Given the description of an element on the screen output the (x, y) to click on. 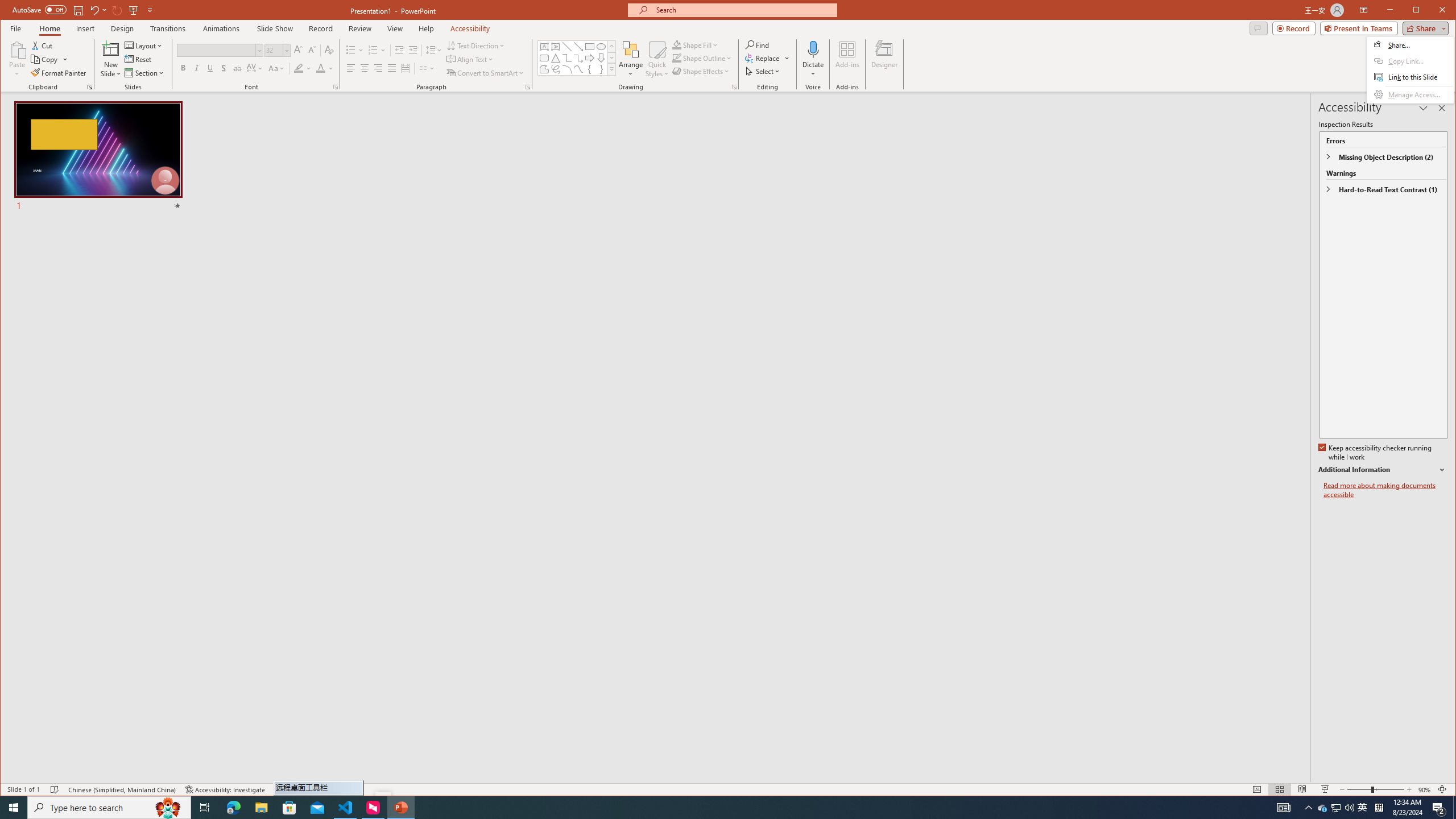
Isosceles Triangle (556, 57)
Format Object... (733, 86)
Keep accessibility checker running while I work (1375, 452)
Align Left (350, 68)
Start (13, 807)
Search highlights icon opens search home window (167, 807)
Increase Indent (412, 49)
Font Color Red (320, 68)
